Given the description of an element on the screen output the (x, y) to click on. 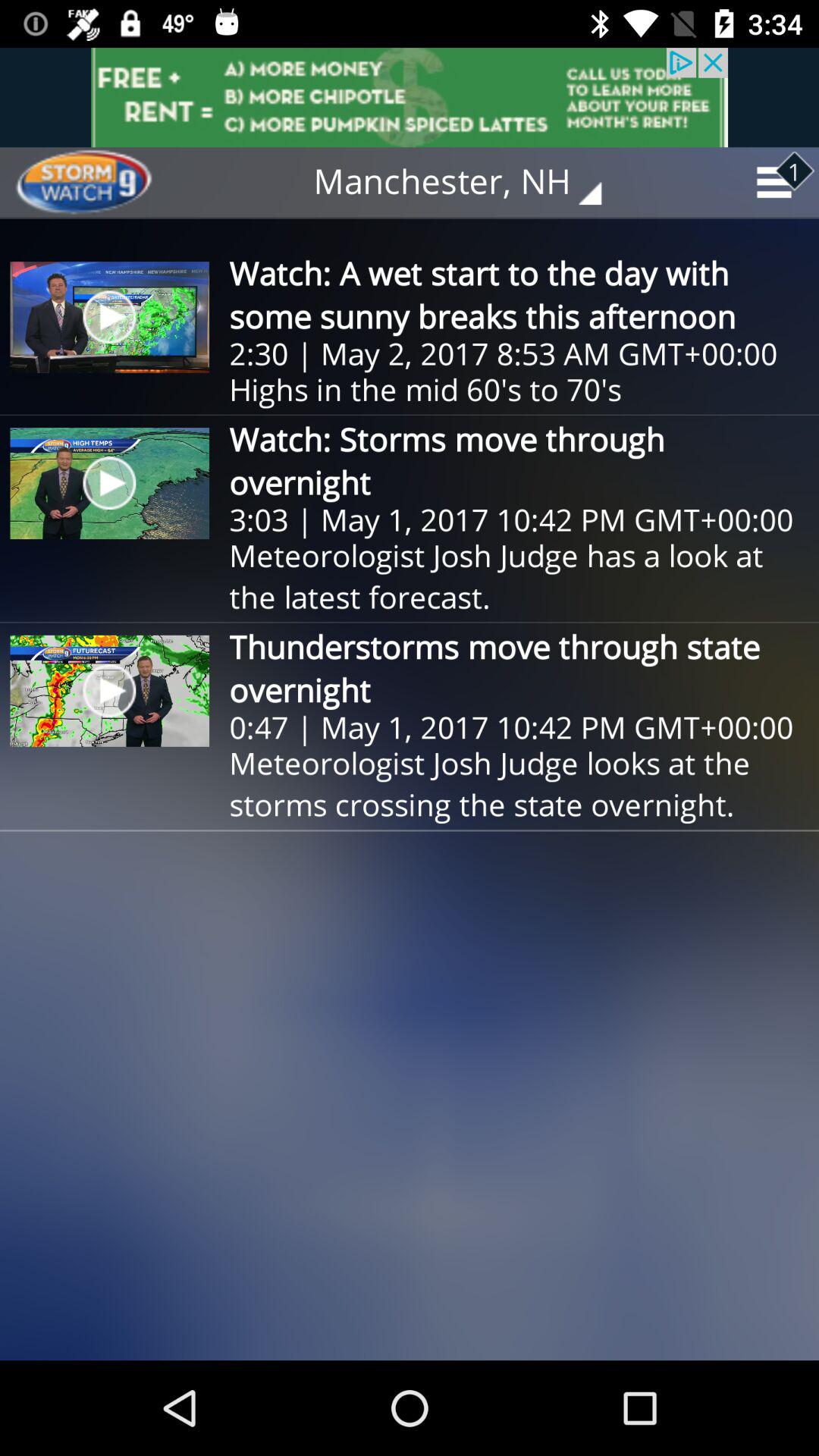
turn on item next to the manchester, nh (99, 182)
